Given the description of an element on the screen output the (x, y) to click on. 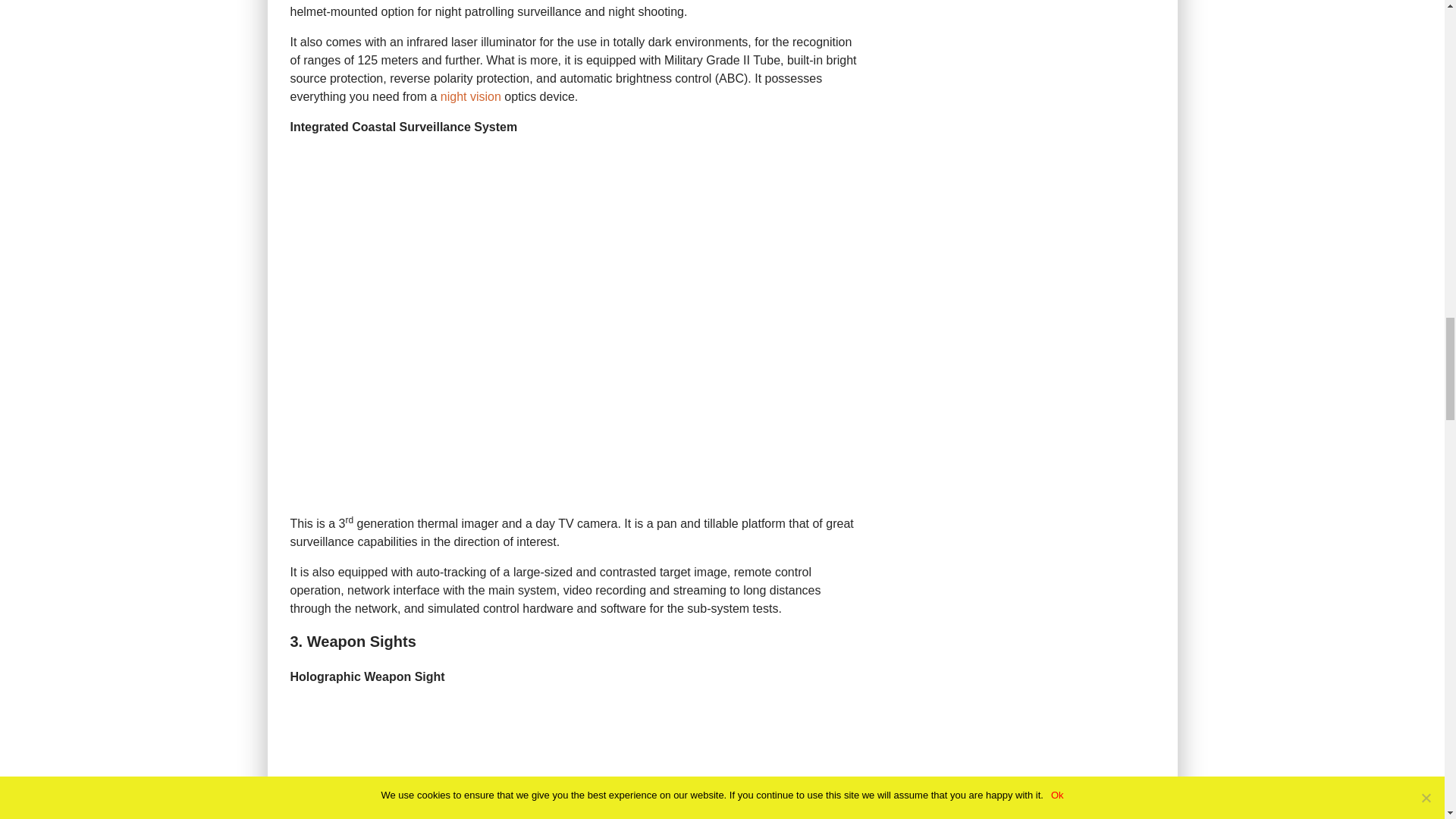
night vision (470, 96)
